Given the description of an element on the screen output the (x, y) to click on. 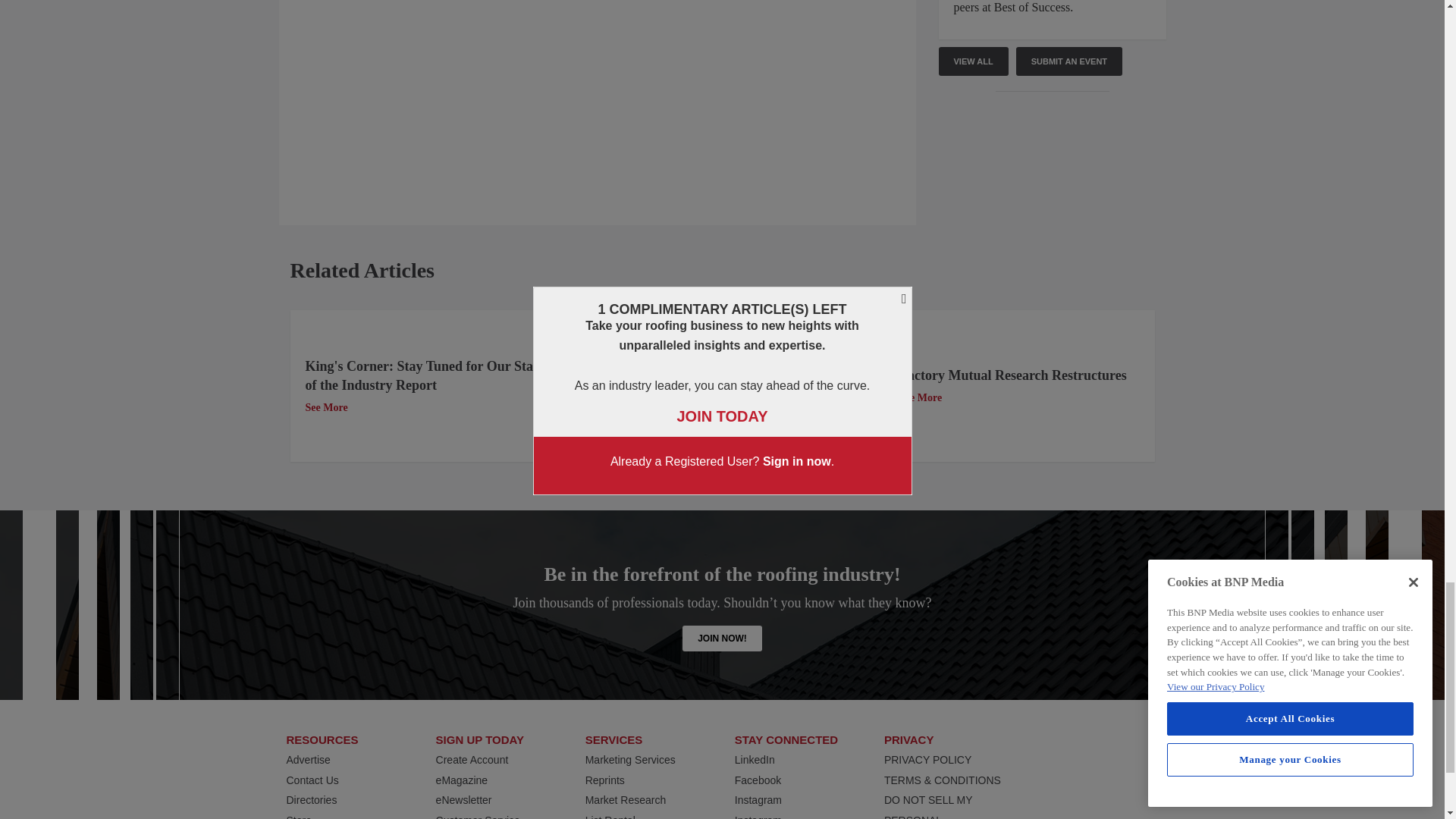
Interaction questions (1052, 163)
